Given the description of an element on the screen output the (x, y) to click on. 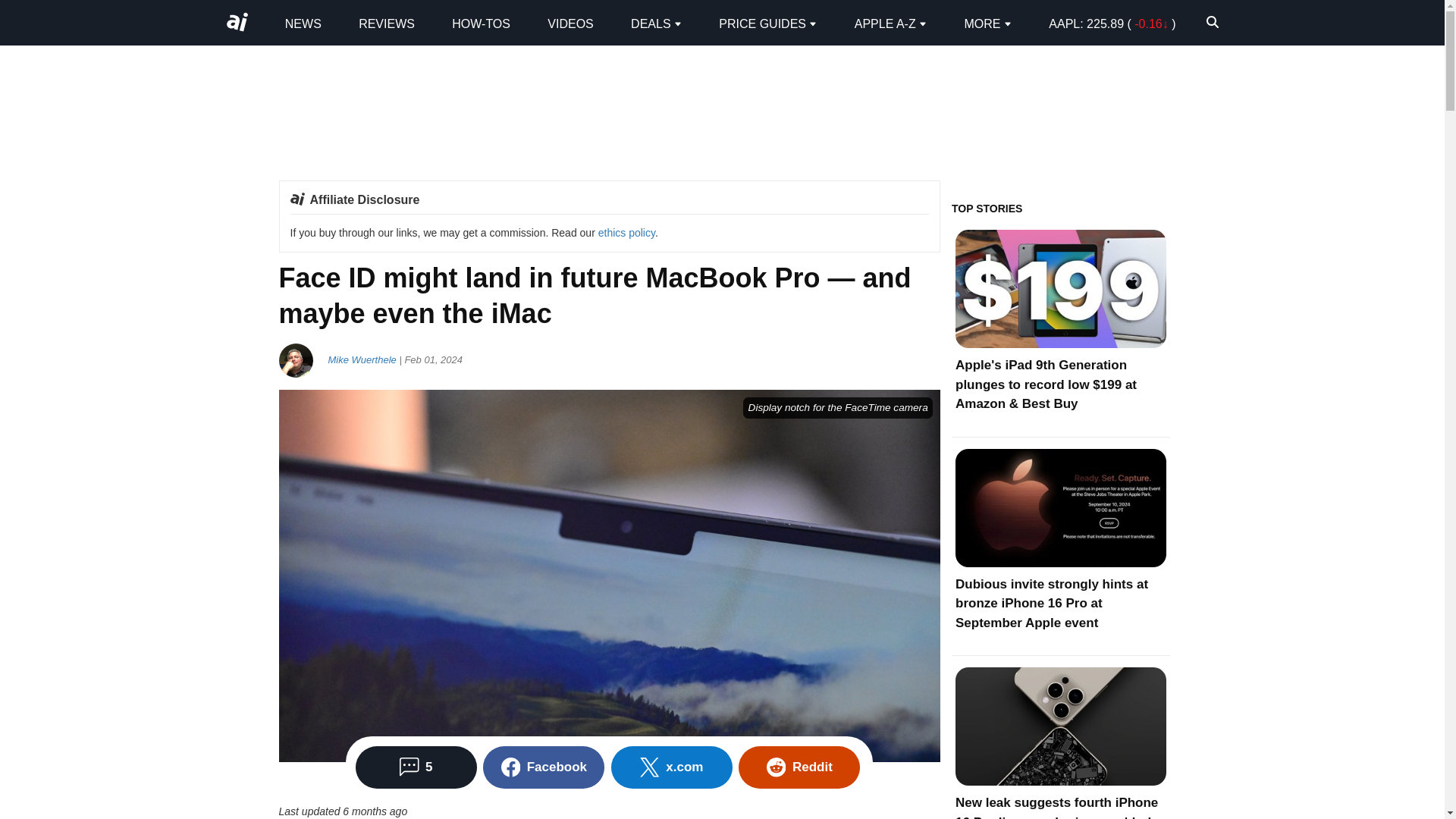
Reviews (386, 23)
News (303, 23)
REVIEWS (386, 23)
HOW-TOS (481, 23)
VIDEOS (569, 23)
Videos (569, 23)
How-Tos (481, 23)
NEWS (303, 23)
